Given the description of an element on the screen output the (x, y) to click on. 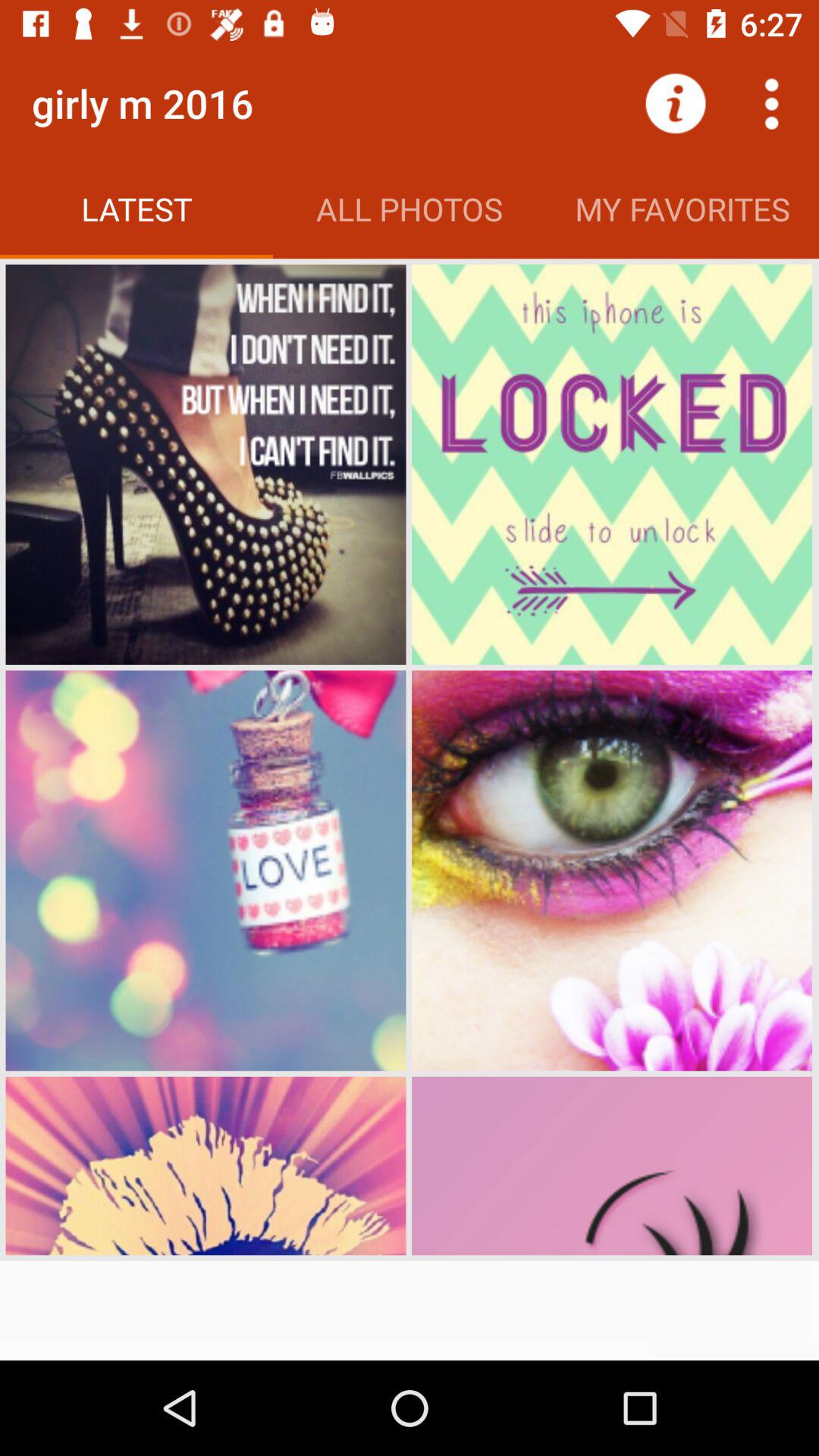
press the icon next to all photos icon (675, 103)
